Given the description of an element on the screen output the (x, y) to click on. 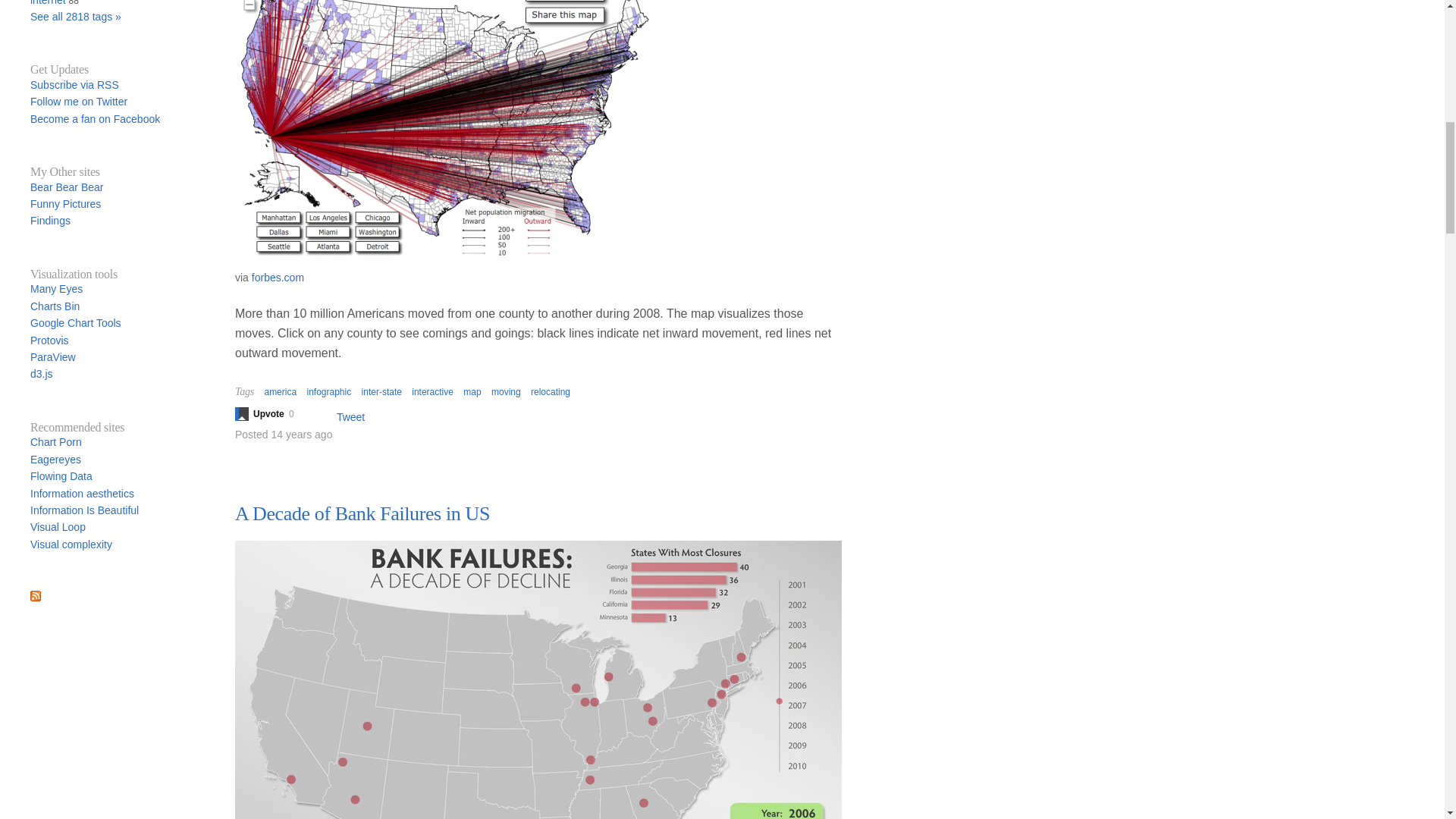
A Decade of Bank Failures in US (361, 513)
relocating (550, 391)
america (280, 391)
Tweet (350, 417)
infographic (327, 391)
map (471, 391)
forbes.com (277, 277)
moving (506, 391)
interactive (432, 391)
UpVote 0 (270, 413)
14 years ago (300, 434)
inter-state (381, 391)
